Given the description of an element on the screen output the (x, y) to click on. 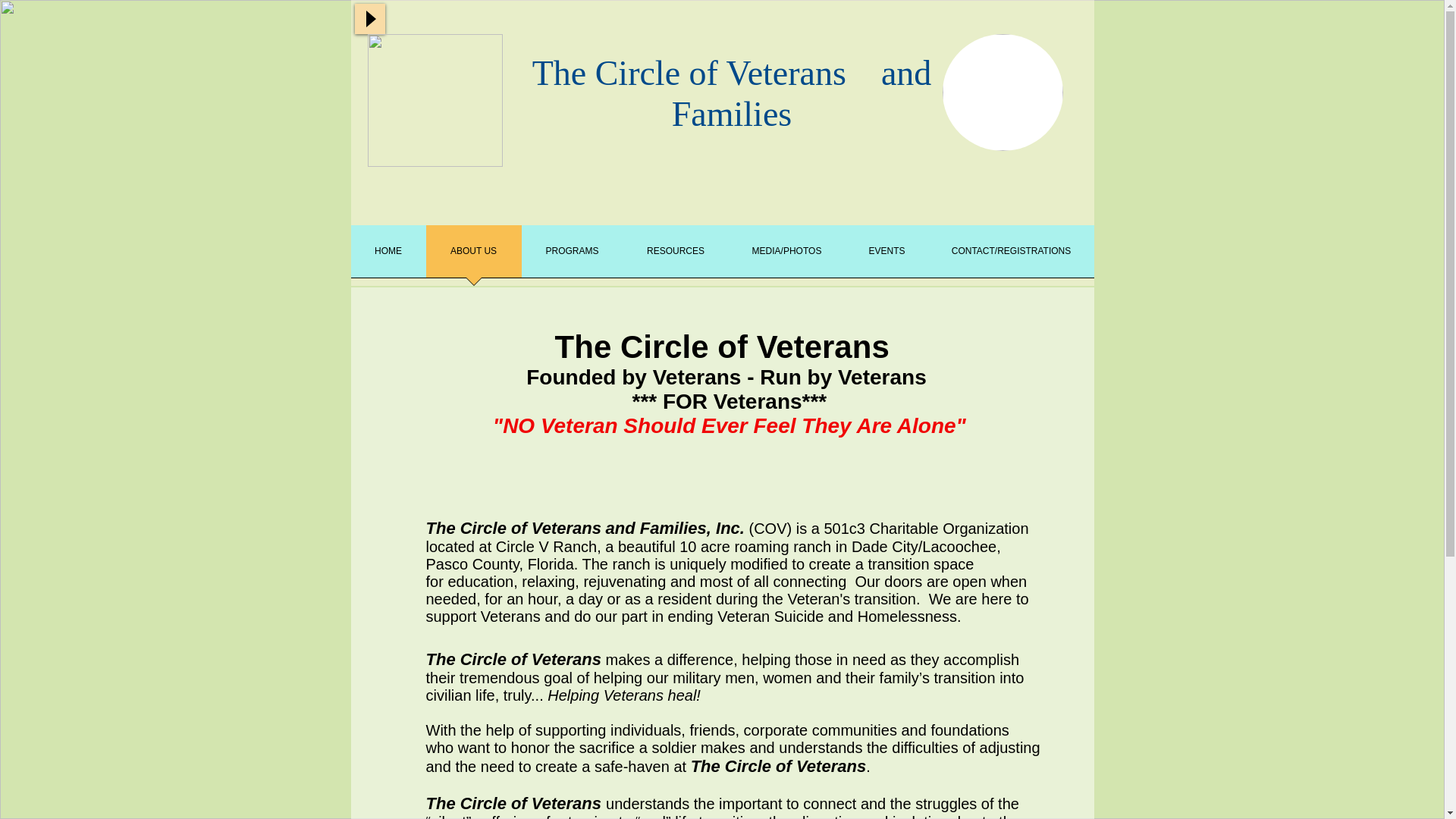
PROGRAMS (572, 256)
EVENTS (886, 256)
ABOUT US (473, 256)
HOME (387, 256)
RESOURCES (676, 256)
400dpiLogo.png (434, 100)
